Given the description of an element on the screen output the (x, y) to click on. 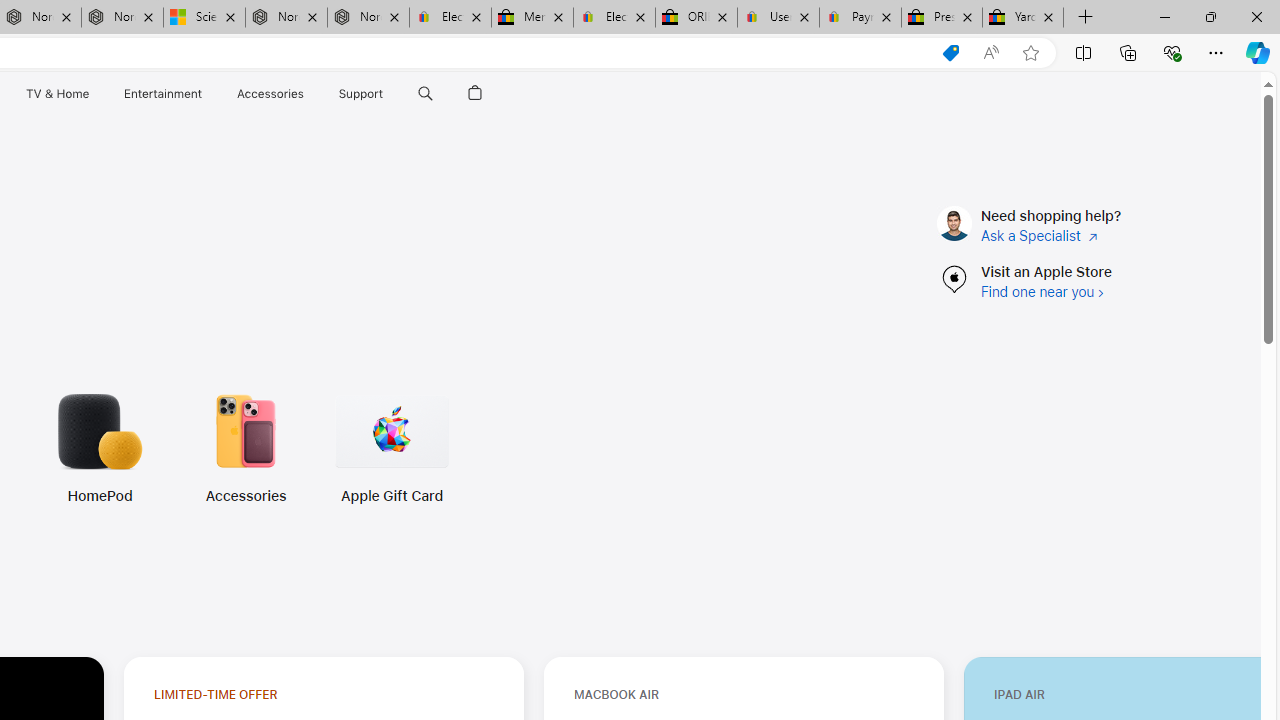
Apple Gift Card (391, 496)
Entertainment menu (205, 93)
Shopping Bag (475, 93)
Nordace - FAQ (368, 17)
Support (361, 93)
AutomationID: globalnav-bag (475, 93)
Yard, Garden & Outdoor Living (1023, 17)
Search apple.com (425, 93)
User Privacy Notice | eBay (778, 17)
Class: globalnav-submenu-trigger-item (387, 93)
Press Room - eBay Inc. (941, 17)
Support (361, 93)
